Given the description of an element on the screen output the (x, y) to click on. 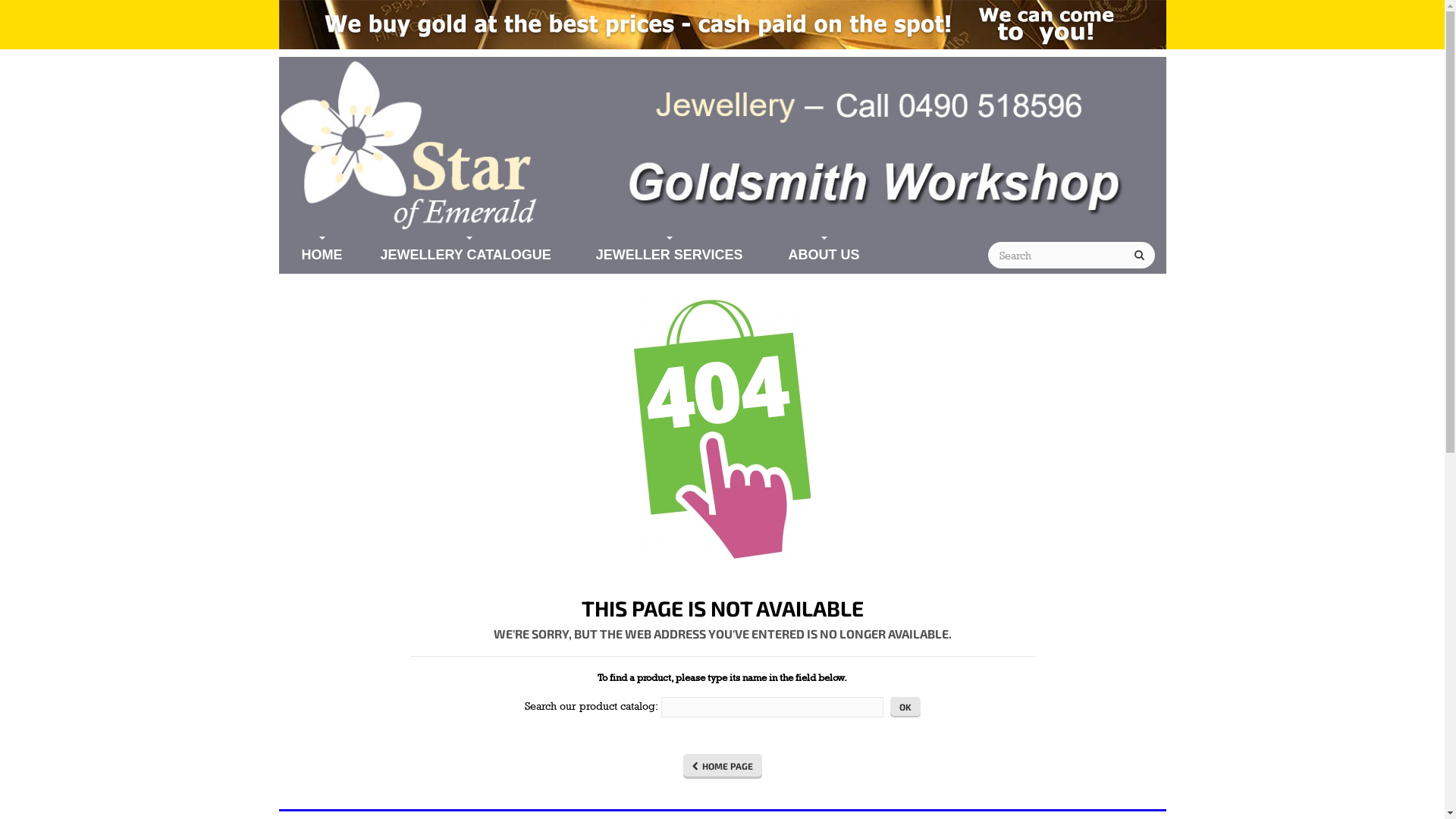
JEWELLERY CATALOGUE Element type: text (469, 254)
Star of Emerald Jeweller Element type: hover (722, 146)
HOME Element type: text (322, 254)
JEWELLER SERVICES Element type: text (669, 254)
HOME PAGE Element type: text (721, 765)
OK Element type: text (905, 706)
ABOUT US Element type: text (823, 254)
